Given the description of an element on the screen output the (x, y) to click on. 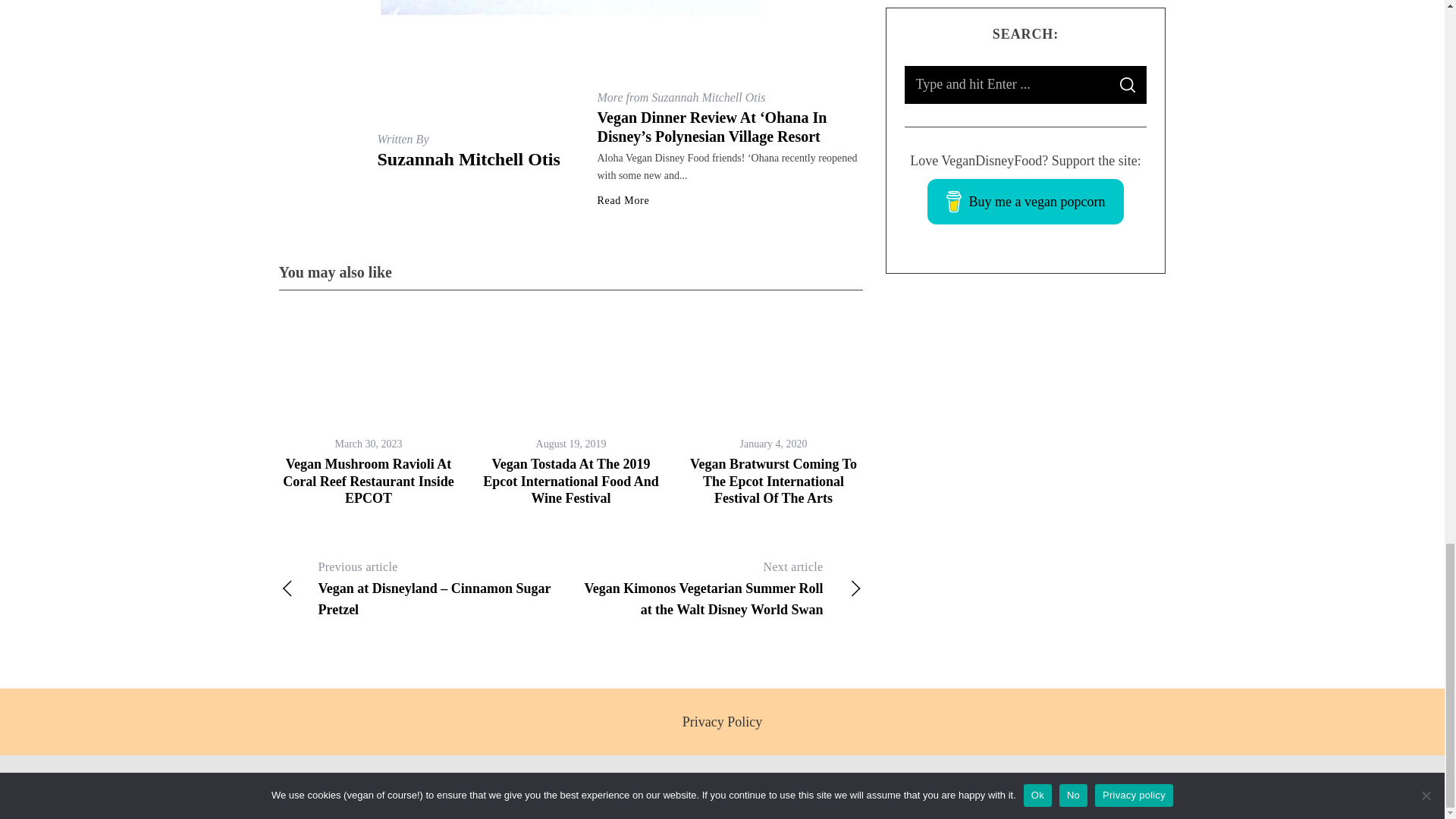
Read More (622, 200)
Vegan Mushroom Ravioli At Coral Reef Restaurant Inside EPCOT (367, 481)
Suzannah Mitchell Otis (468, 158)
